Given the description of an element on the screen output the (x, y) to click on. 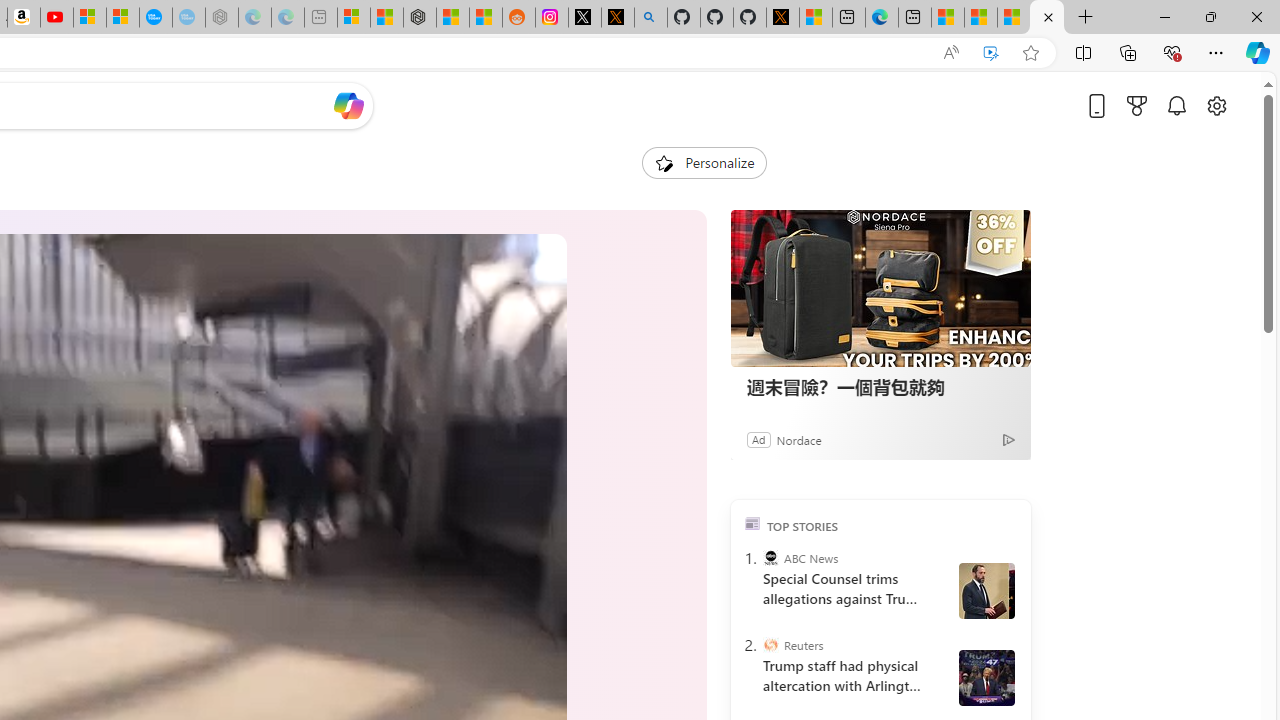
The most popular Google 'how to' searches - Sleeping (188, 17)
Reuters (770, 645)
